Given the description of an element on the screen output the (x, y) to click on. 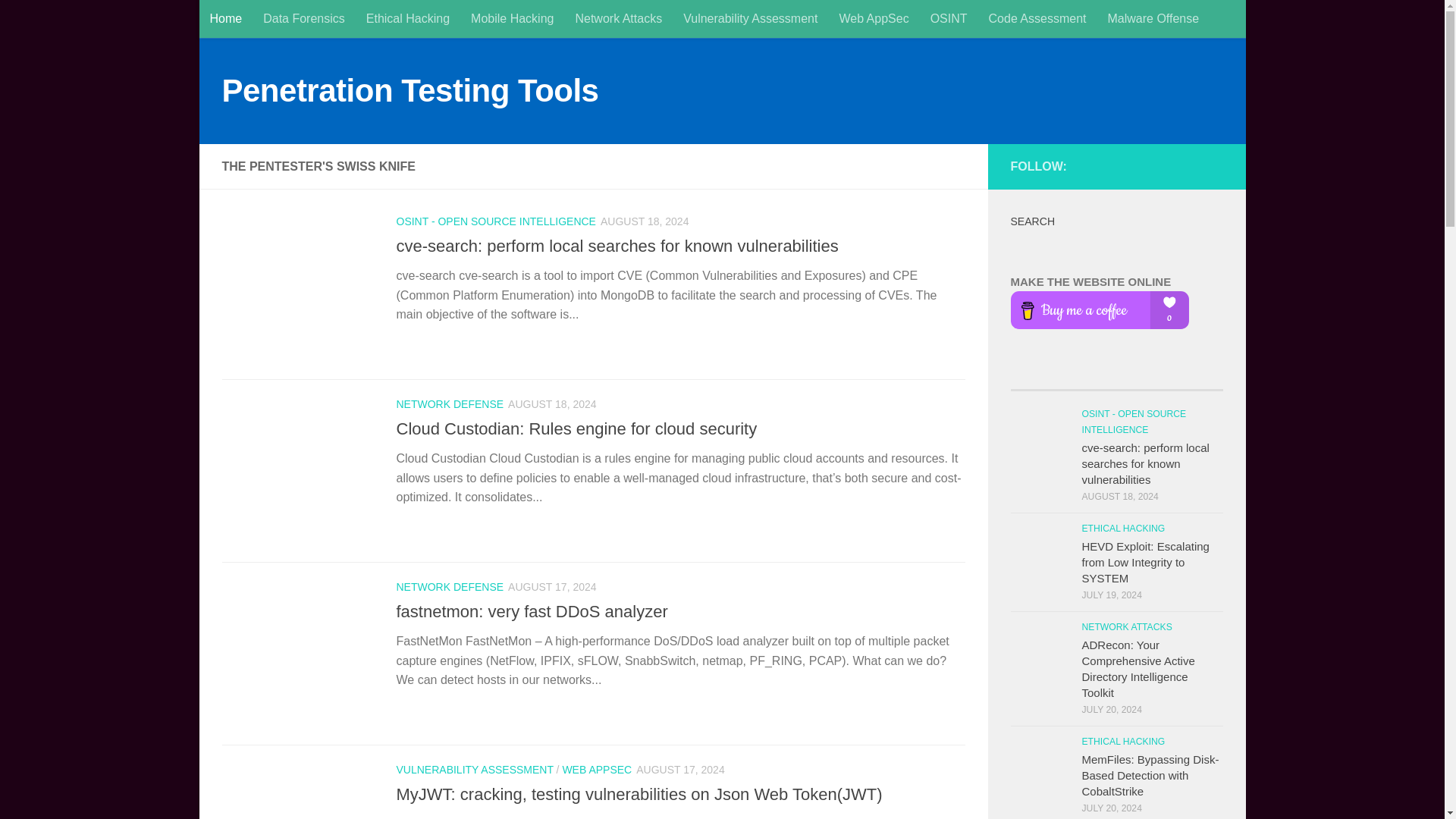
Ethical Hacking (407, 18)
Home (224, 18)
Data Forensics (303, 18)
Web AppSec (873, 18)
Mobile Hacking (512, 18)
Vulnerability Assessment (750, 18)
Skip to content (263, 20)
OSINT (949, 18)
Code Assessment (1037, 18)
Malware Offense (1152, 18)
